Given the description of an element on the screen output the (x, y) to click on. 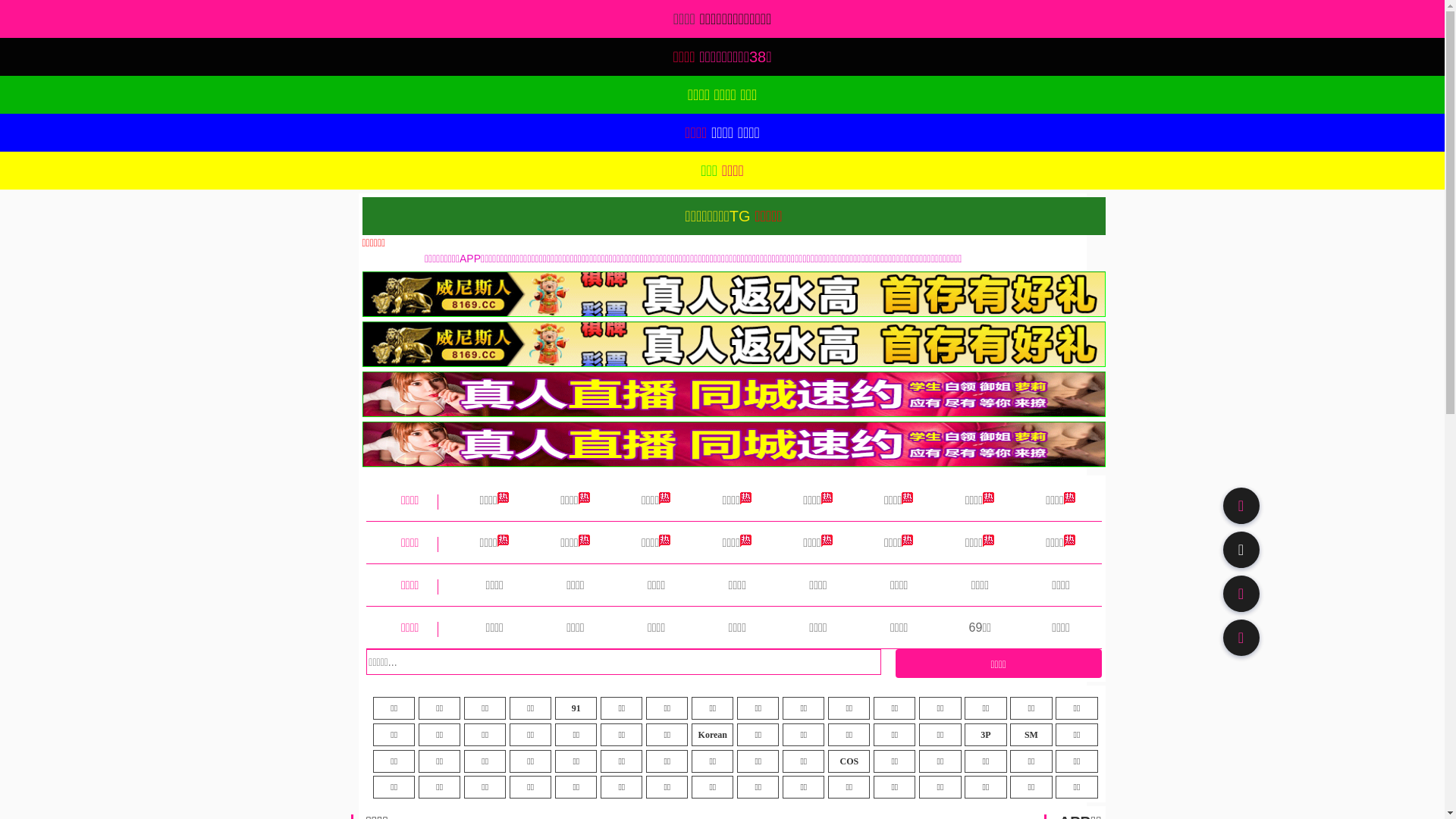
SM Element type: text (1030, 734)
Korean Element type: text (712, 734)
91TV Element type: hover (1240, 593)
3P Element type: text (985, 734)
91 Element type: text (575, 707)
COS Element type: text (848, 760)
